Given the description of an element on the screen output the (x, y) to click on. 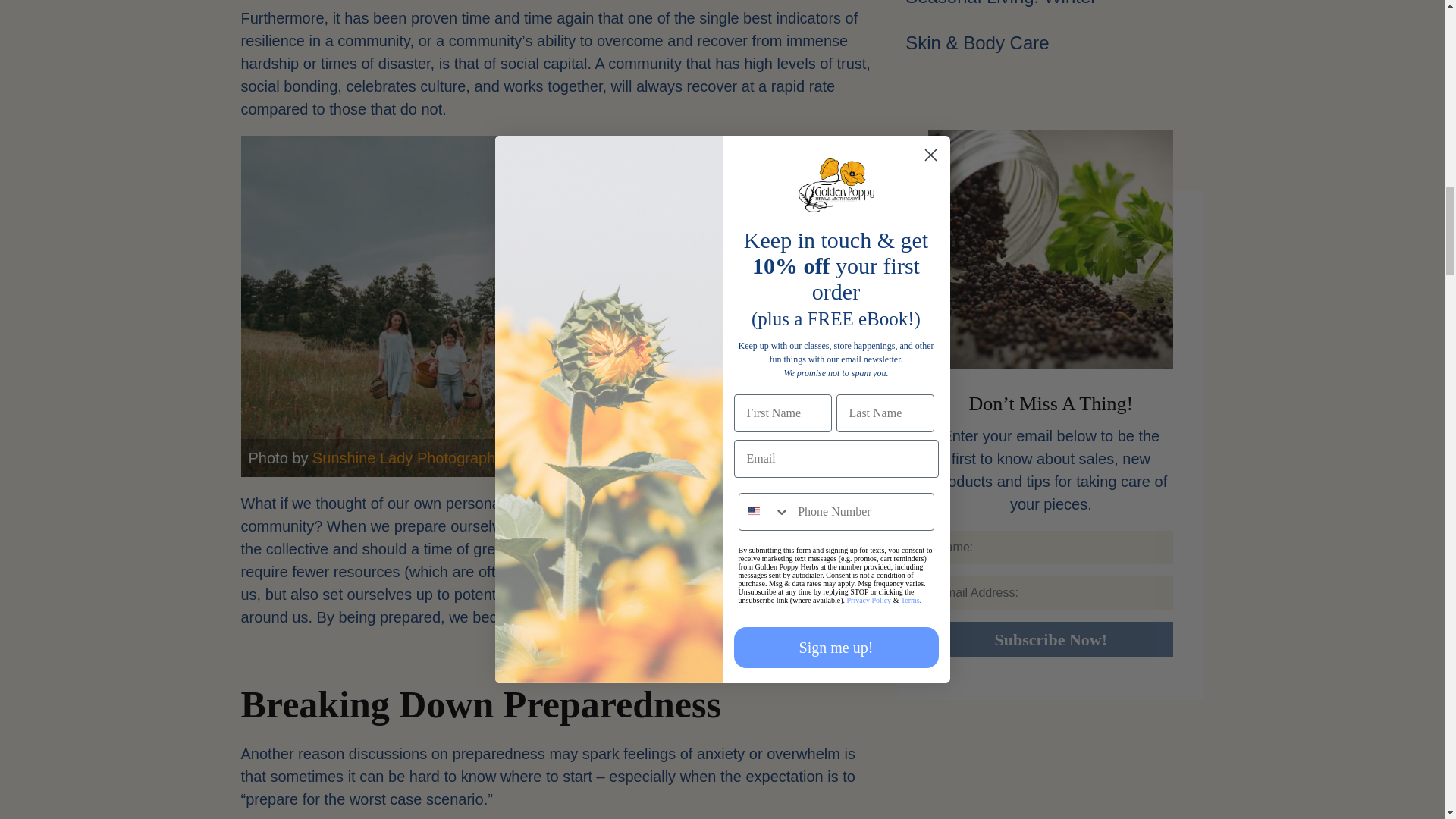
Subscribe now! (1050, 639)
